Given the description of an element on the screen output the (x, y) to click on. 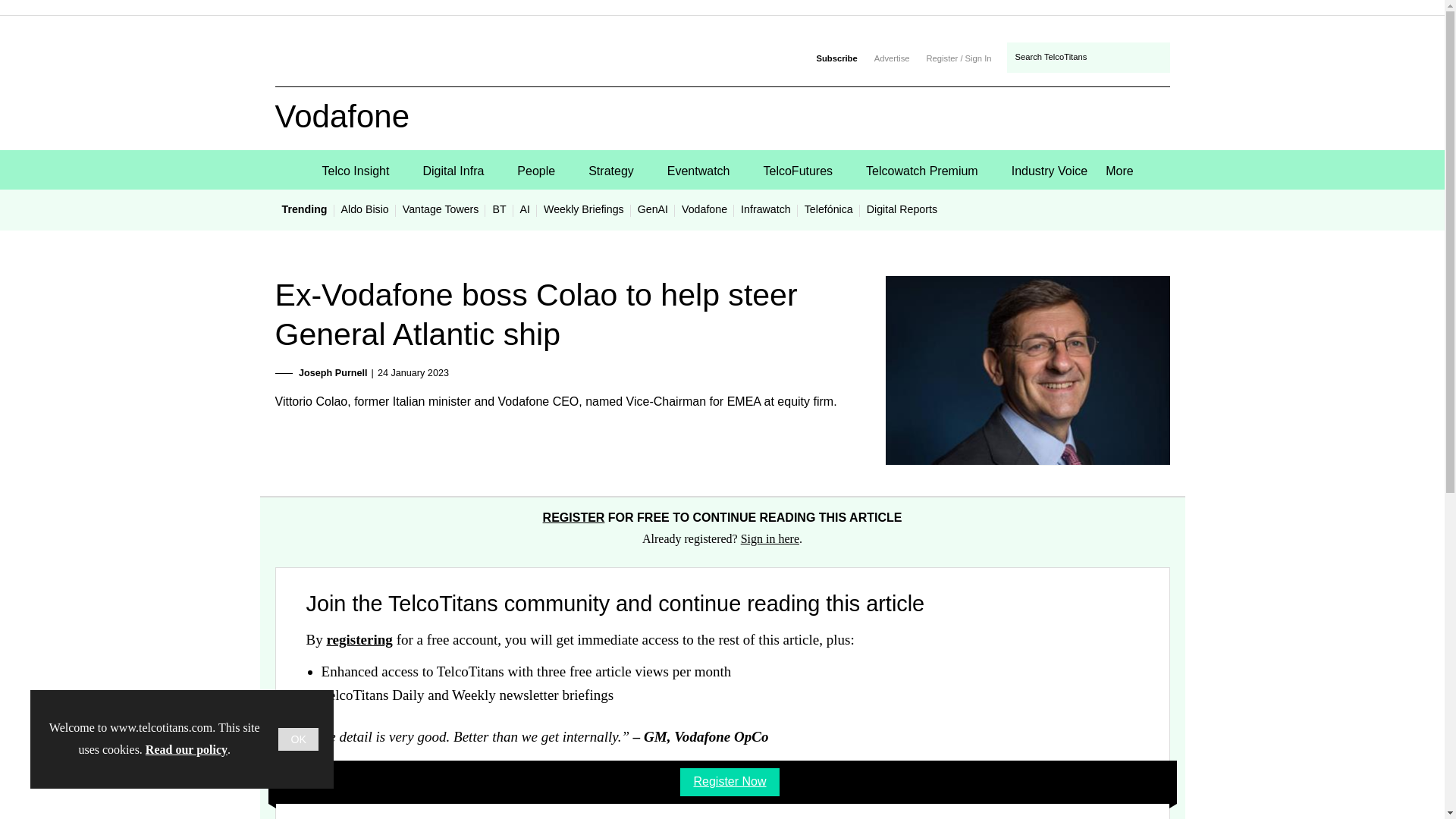
Advertise (892, 58)
BT (498, 209)
AI (525, 209)
GenAI (652, 209)
Vodafone (360, 127)
Search (1153, 57)
TelcoTitans (366, 70)
Aldo Bisio (365, 209)
Weekly Briefings (583, 209)
Infrawatch (765, 209)
OK (298, 739)
Subscribe (836, 58)
Vantage Towers (441, 209)
Vodafone (704, 209)
Read our policy (186, 748)
